Given the description of an element on the screen output the (x, y) to click on. 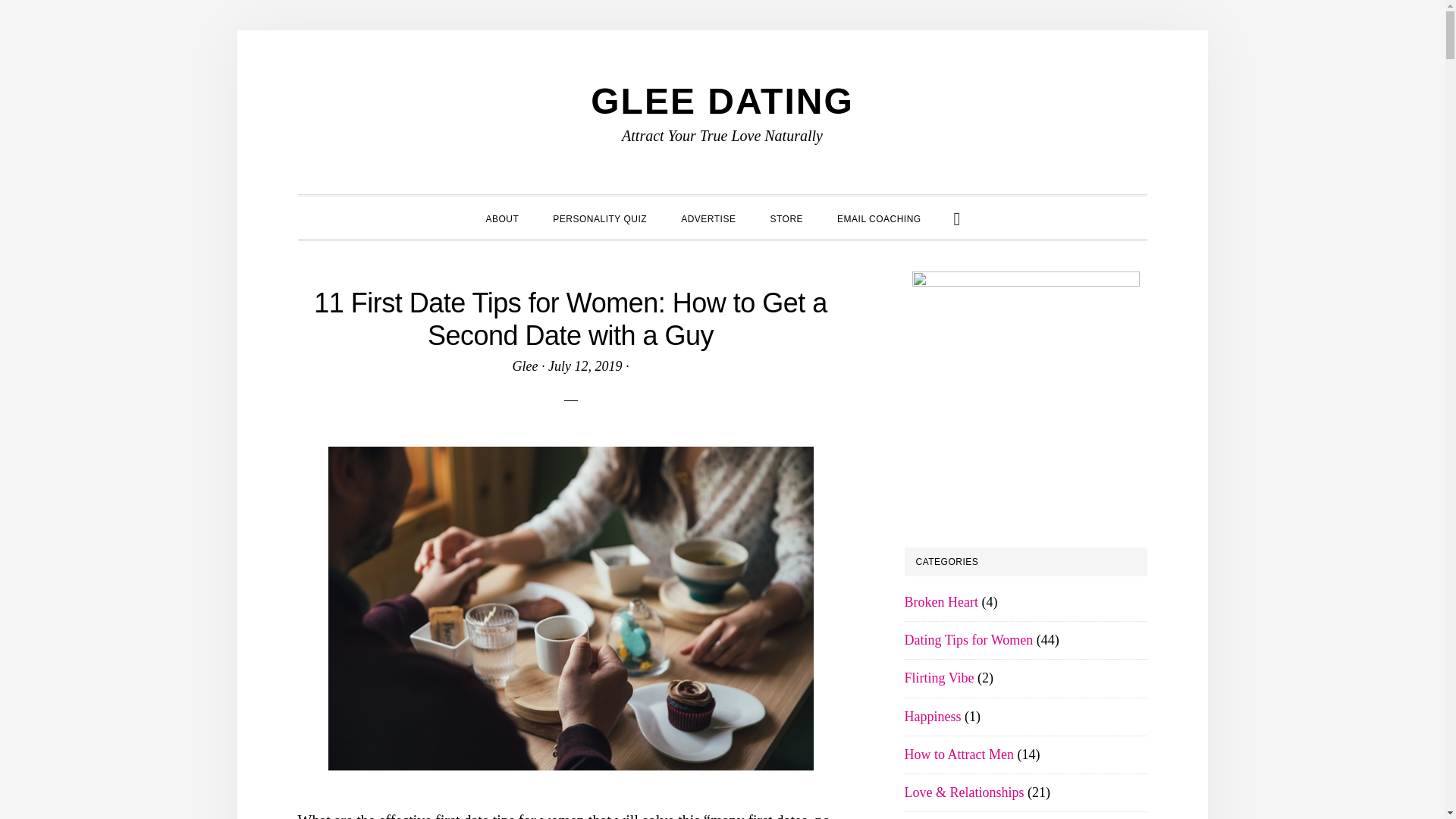
EMAIL COACHING (879, 216)
STORE (786, 216)
ABOUT (502, 216)
Glee (525, 365)
PERSONALITY QUIZ (599, 216)
ADVERTISE (708, 216)
GLEE DATING (722, 101)
